Given the description of an element on the screen output the (x, y) to click on. 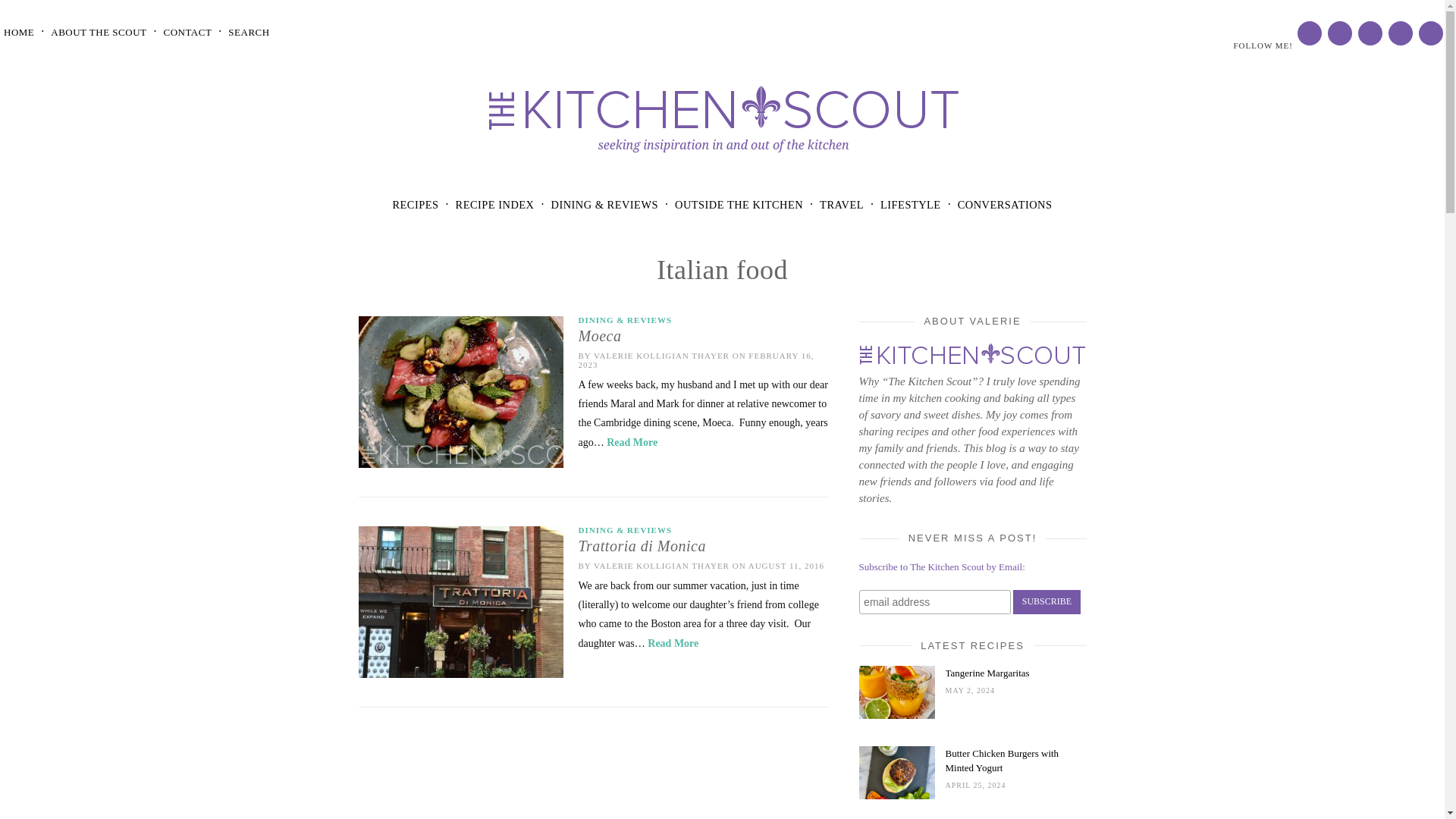
OUTSIDE THE KITCHEN (739, 204)
RECIPE INDEX (494, 204)
Butter Chicken Burgers with Minted Yogurt (1015, 760)
Permanent Link: Tangerine Margaritas (1015, 672)
LIFESTYLE (910, 204)
VALERIE KOLLIGIAN THAYER (661, 565)
SUBSCRIBE (1046, 601)
Posts by Valerie Kolligian Thayer (661, 565)
SEARCH (248, 31)
Permanent Link: Tangerine Margaritas (896, 715)
Moeca (703, 335)
Trattoria di Monica (703, 546)
SUBSCRIBE (1046, 601)
ABOUT THE SCOUT (98, 31)
Tangerine Margaritas (1015, 672)
